Given the description of an element on the screen output the (x, y) to click on. 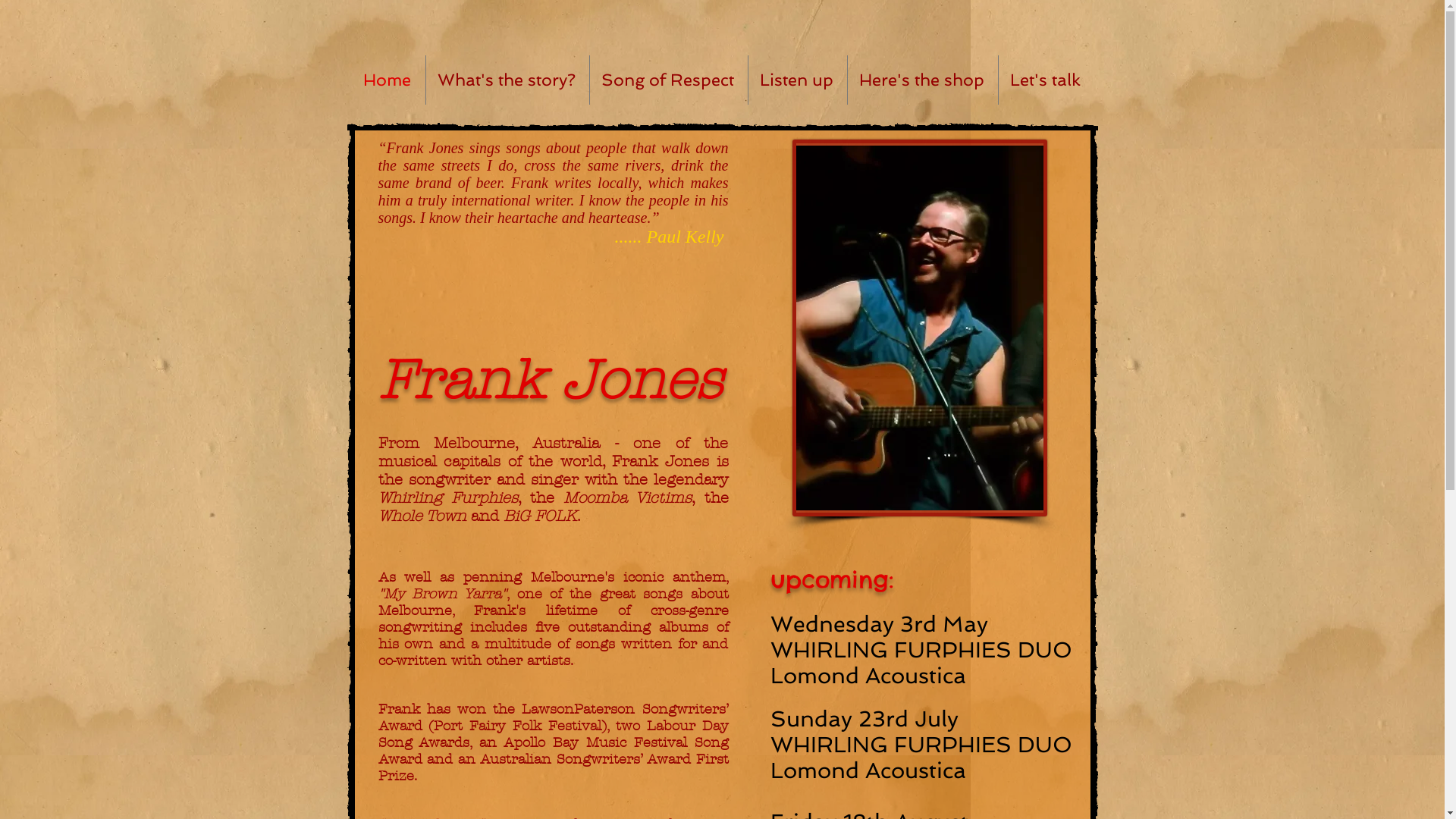
DSC_2681 - Version 2.jpg Element type: hover (918, 327)
Here's the shop Element type: text (922, 79)
Song of Respect Element type: text (668, 79)
Listen up Element type: text (796, 79)
Home Element type: text (388, 79)
Let's talk Element type: text (1045, 79)
What's the story? Element type: text (507, 79)
